Given the description of an element on the screen output the (x, y) to click on. 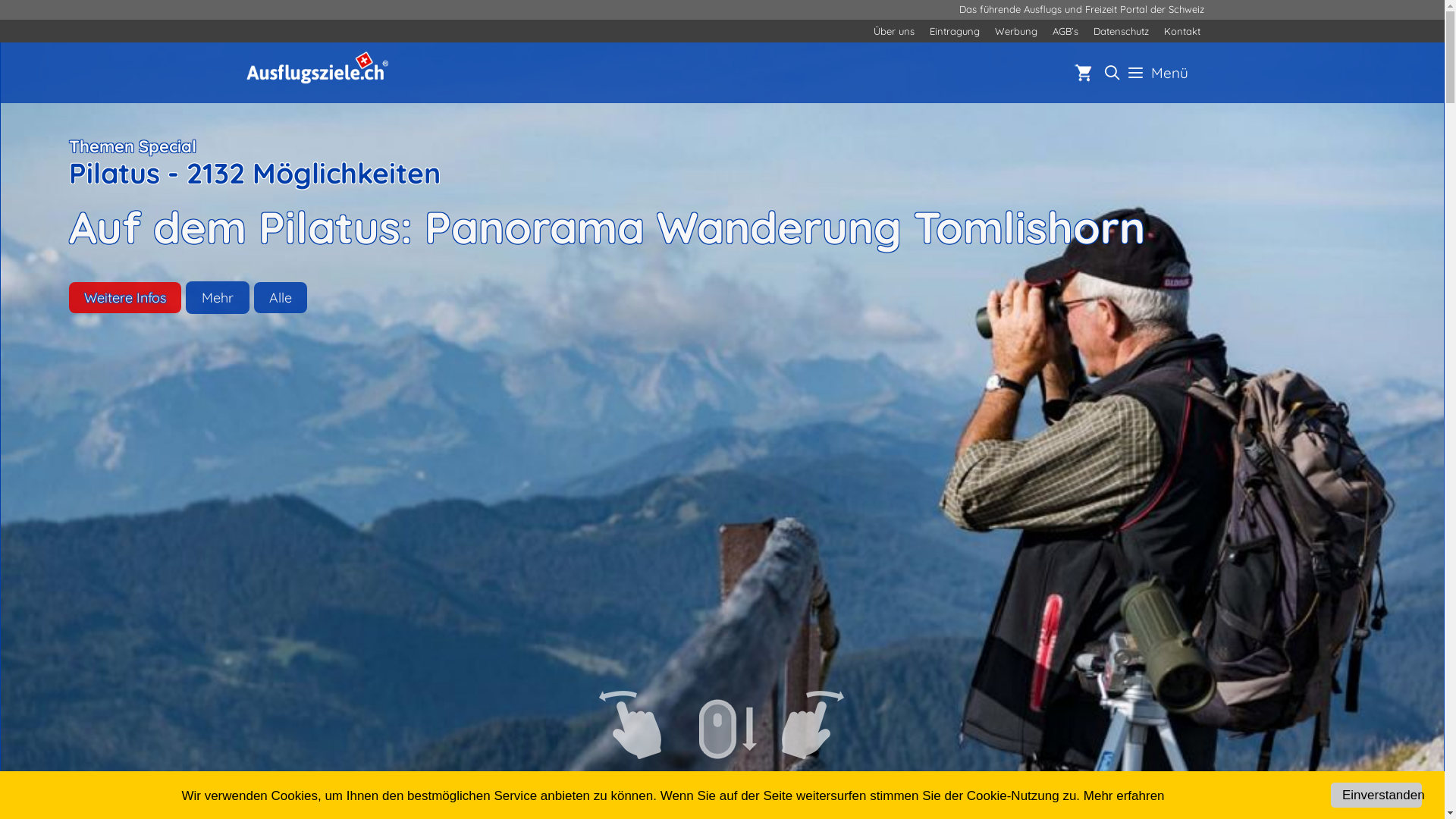
Weitere Infos Element type: text (125, 297)
Alle Element type: text (280, 297)
Kontakt Element type: text (1181, 30)
Werbung Element type: text (1015, 30)
Geschenkgutscheine / Erlebnis-Shop Element type: hover (1083, 71)
Mehr erfahren Element type: text (1123, 795)
Mehr Element type: text (217, 297)
Eintragung Element type: text (954, 30)
Datenschutz Element type: text (1120, 30)
Einverstanden Element type: text (1375, 794)
